Given the description of an element on the screen output the (x, y) to click on. 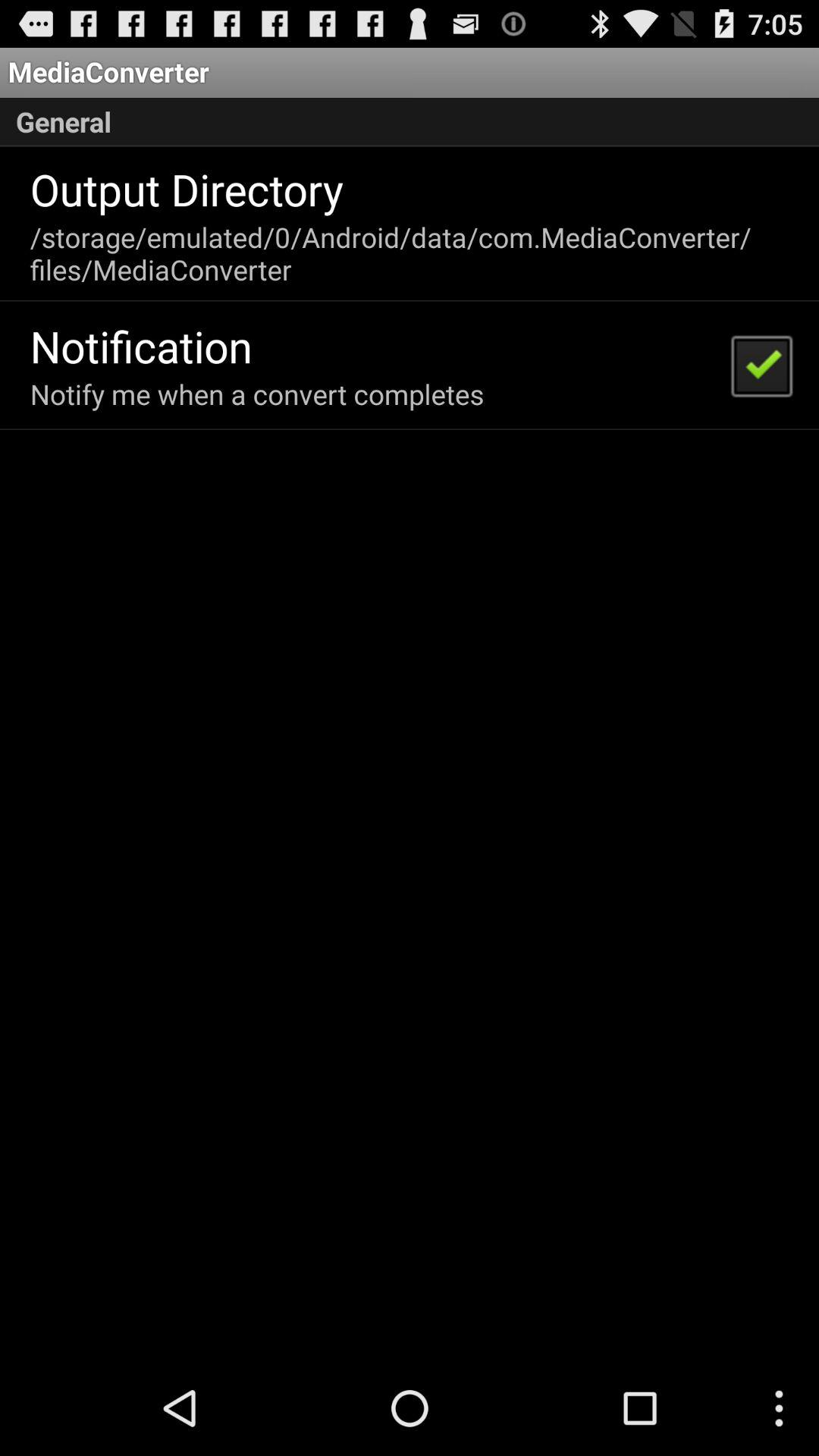
press item below mediaconverter icon (409, 121)
